Given the description of an element on the screen output the (x, y) to click on. 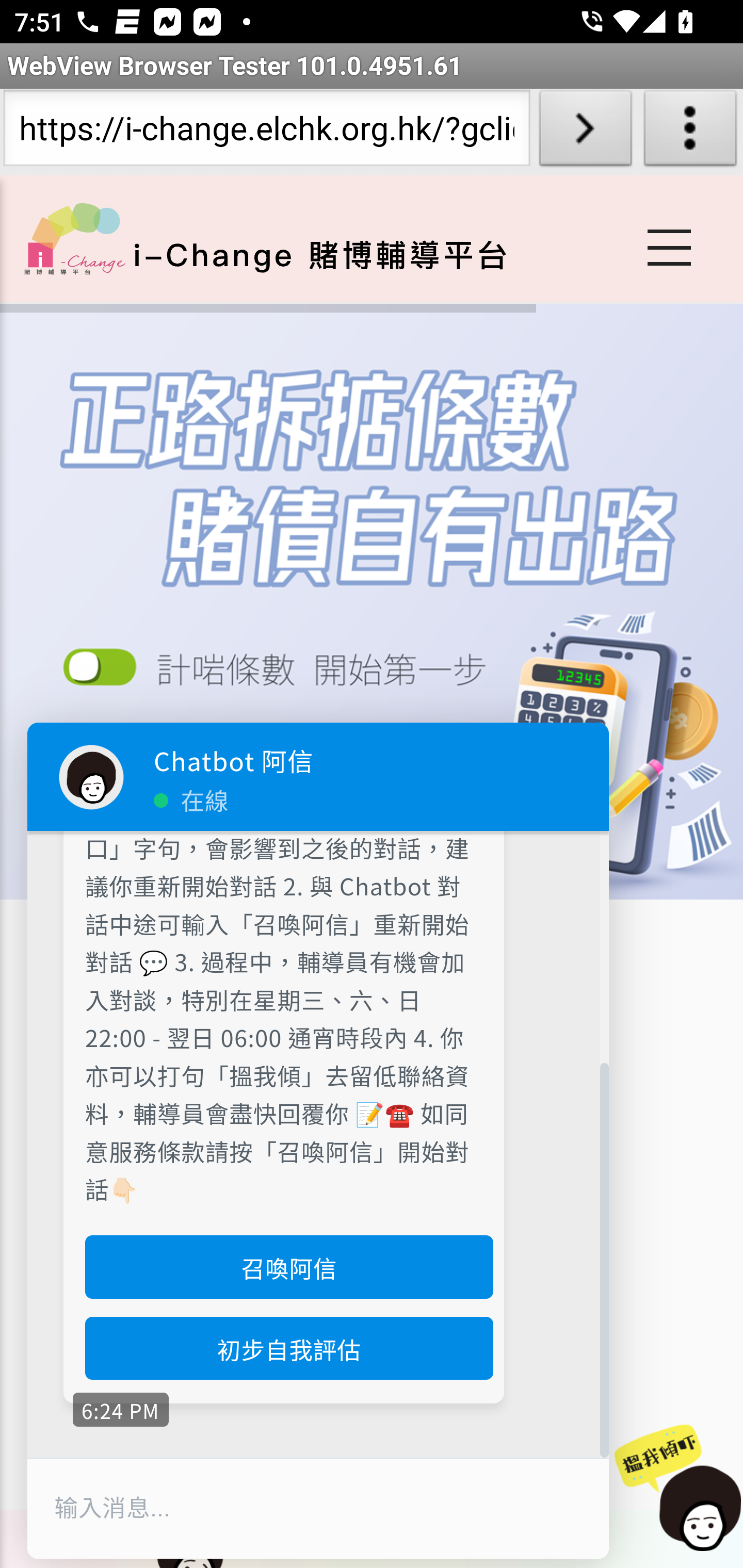
Load URL (585, 132)
About WebView (690, 132)
Home (74, 238)
查閱私隱政策 (283, 674)
Chat Now (677, 1488)
